Given the description of an element on the screen output the (x, y) to click on. 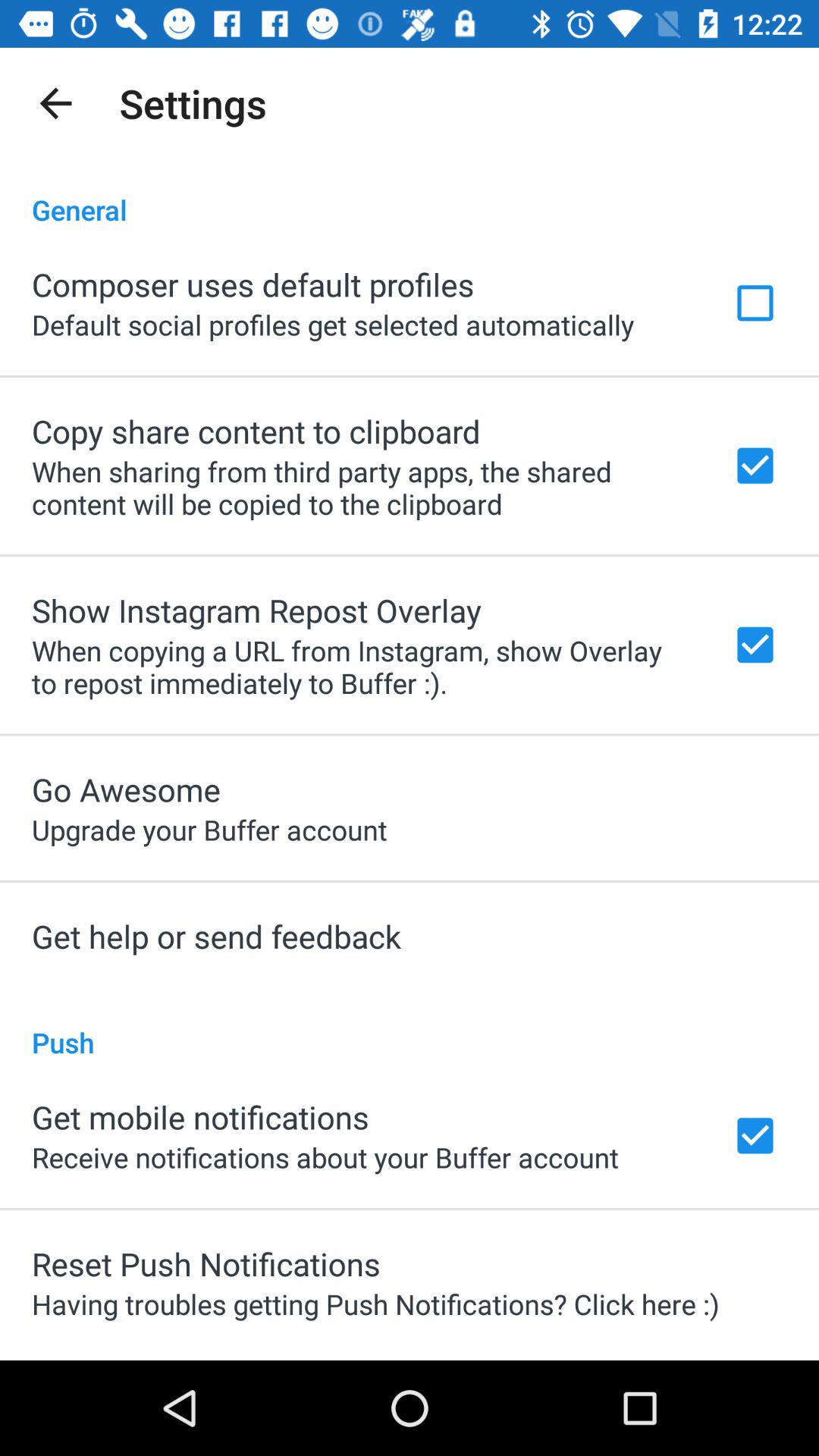
press item below the reset push notifications app (375, 1303)
